Given the description of an element on the screen output the (x, y) to click on. 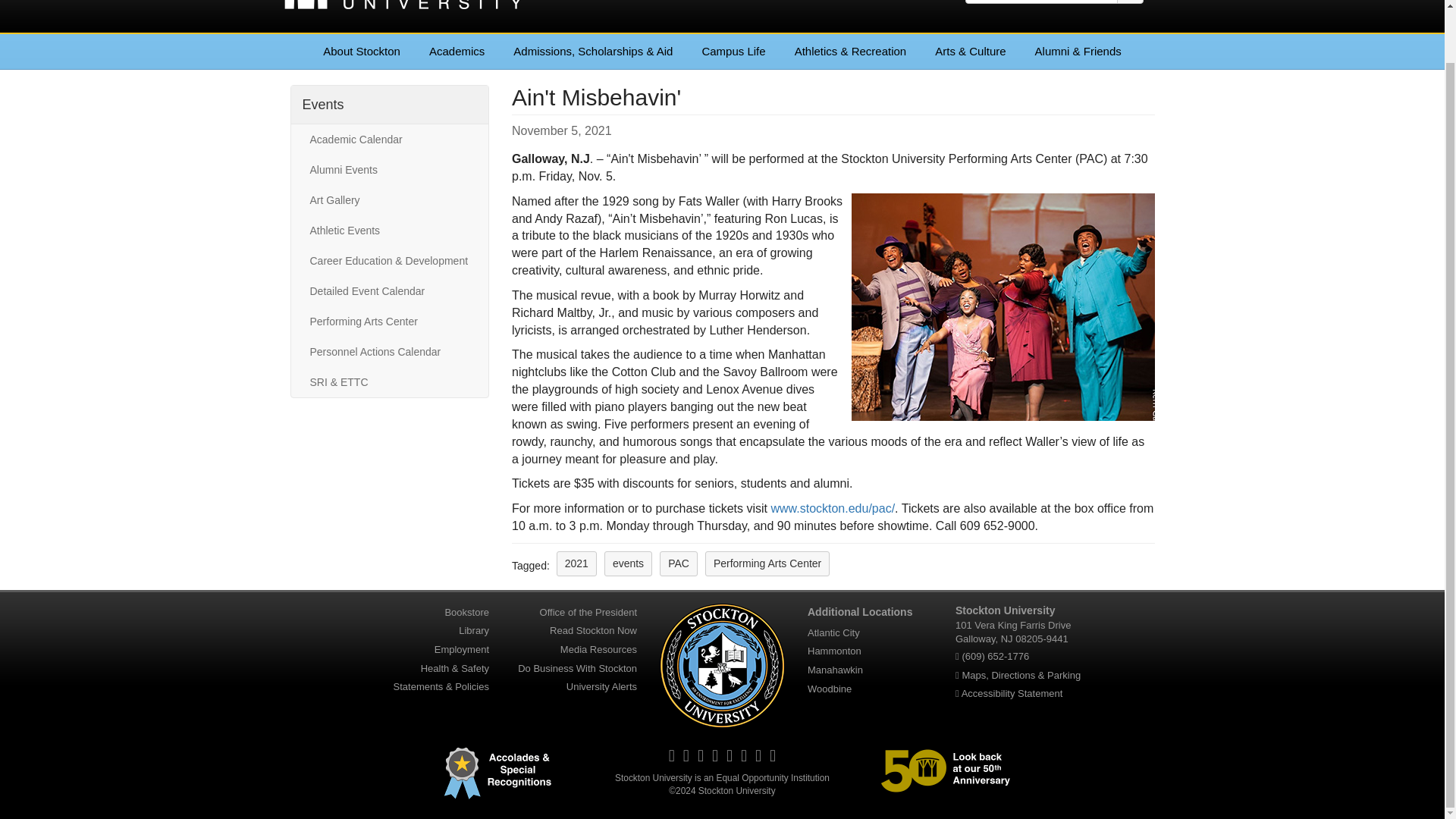
events (628, 563)
ain't misbehavin (1002, 306)
Do Business With Stockton (577, 668)
Art Gallery (389, 200)
Performing Arts Center (766, 563)
Performing Arts Center (389, 321)
About Stockton (361, 51)
Office of the President (588, 611)
University Alerts (601, 686)
Academics (456, 51)
Alumni Events (389, 169)
Events (322, 104)
Read Stockton Now (593, 630)
Campus Life (732, 51)
PAC (678, 563)
